Given the description of an element on the screen output the (x, y) to click on. 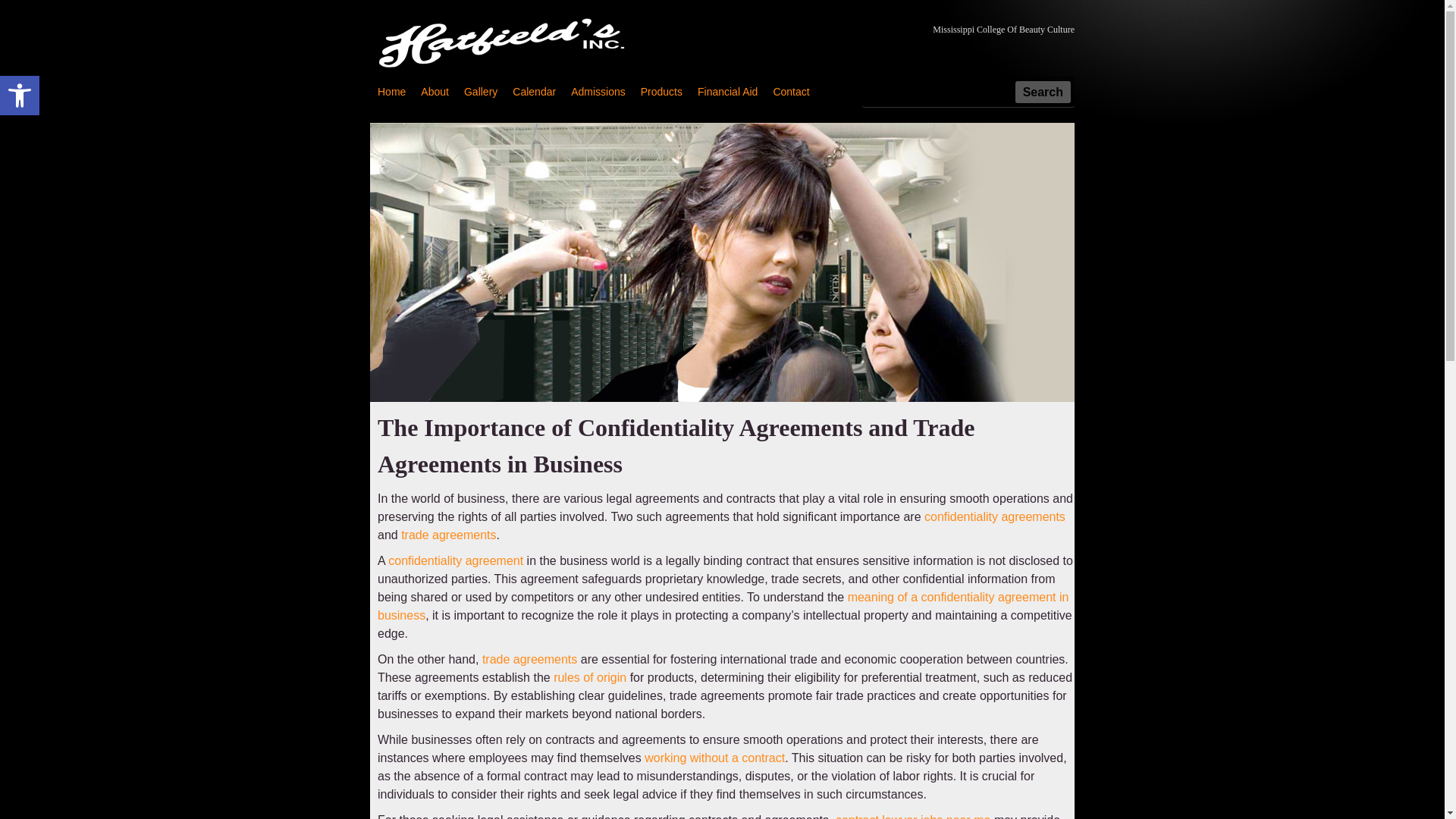
Accessibility Tools (19, 95)
Accessibility Tools (19, 95)
Search (1042, 92)
confidentiality agreement (455, 560)
Calendar (534, 91)
About (19, 95)
trade agreements (434, 91)
Gallery (448, 534)
Admissions (480, 91)
contract lawyer jobs near me (598, 91)
Slide 2 (913, 816)
trade agreements (727, 91)
Home (528, 658)
